Given the description of an element on the screen output the (x, y) to click on. 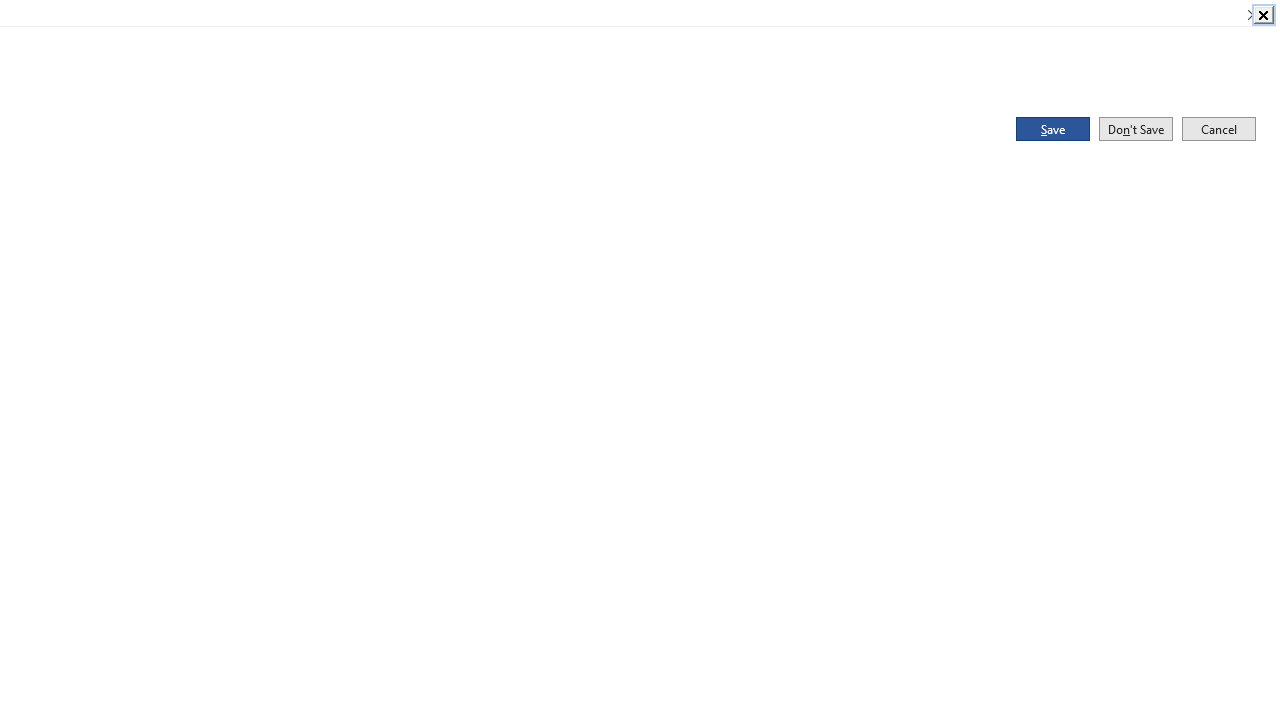
Don't Save (1135, 128)
Cancel (1218, 128)
